Given the description of an element on the screen output the (x, y) to click on. 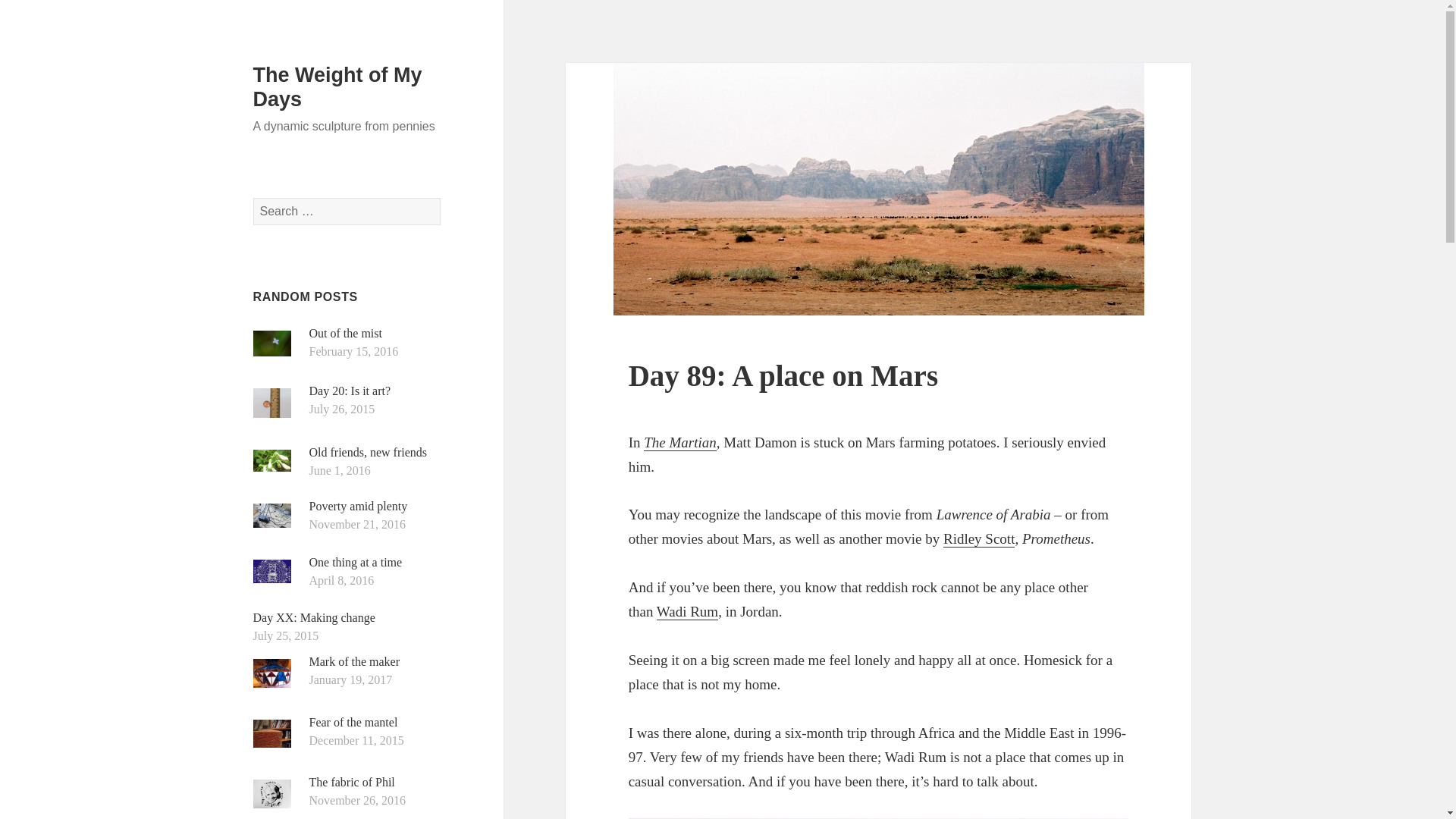
Day 20: Is it art? (349, 390)
The fabric of Phil (351, 781)
Fear of the mantel (352, 721)
Day XX: Making change (314, 617)
Old friends, new friends (368, 451)
One thing at a time (355, 562)
The Weight of My Days (337, 86)
Poverty amid plenty (357, 505)
Mark of the maker (354, 661)
Out of the mist (344, 332)
